Given the description of an element on the screen output the (x, y) to click on. 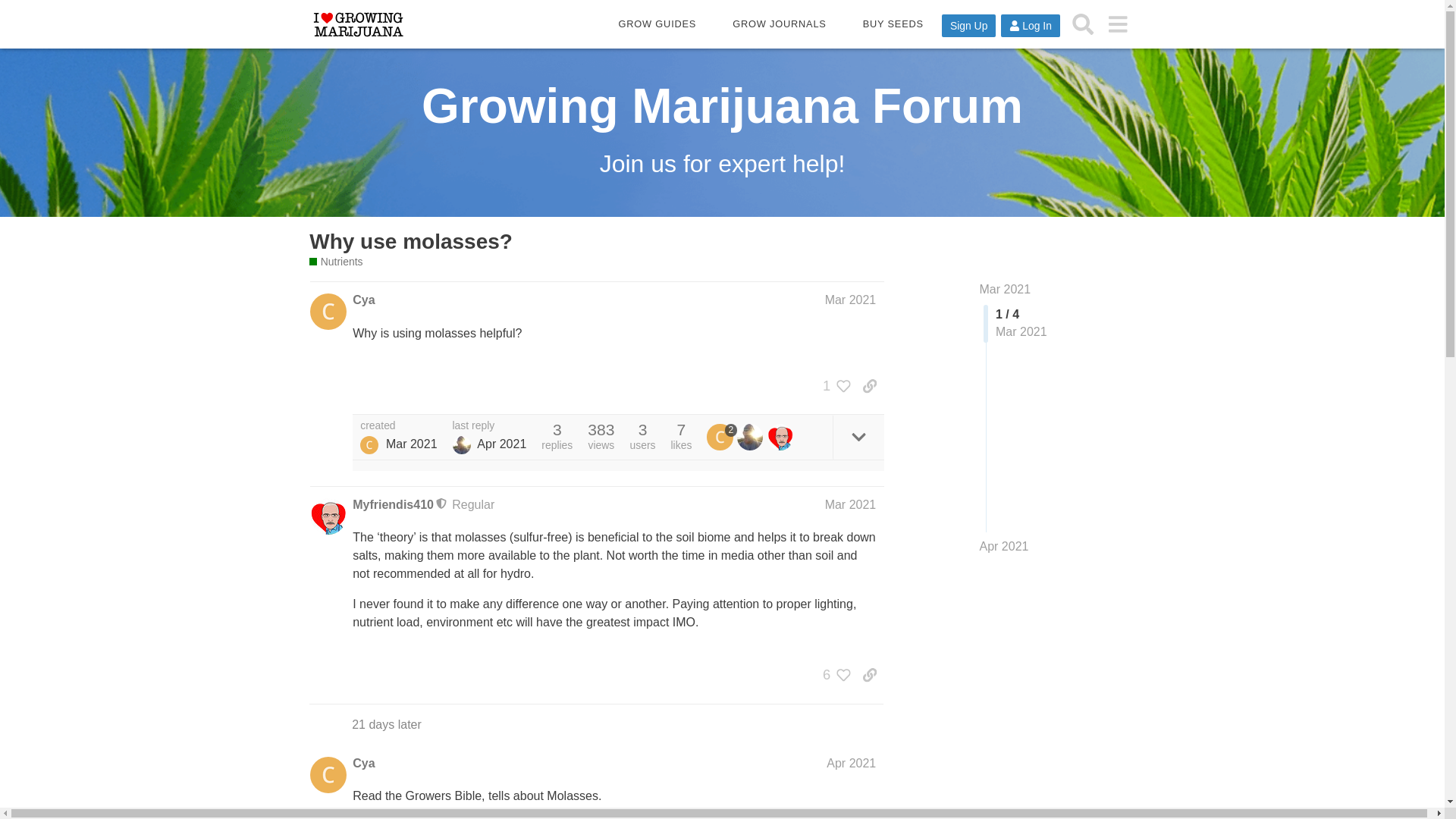
Jump to the last post (1004, 545)
Cya (363, 763)
copy a link to this post to clipboard (869, 385)
Cya (363, 299)
Sign Up (968, 25)
Cya (368, 444)
Mar 2021 (850, 504)
Post date (850, 299)
Nutrients (335, 261)
BUY SEEDS (893, 24)
Mar 2021 (850, 299)
Apr 2021 (1004, 546)
expand topic details (857, 436)
Mar 2021 (1004, 288)
menu (1117, 23)
